Given the description of an element on the screen output the (x, y) to click on. 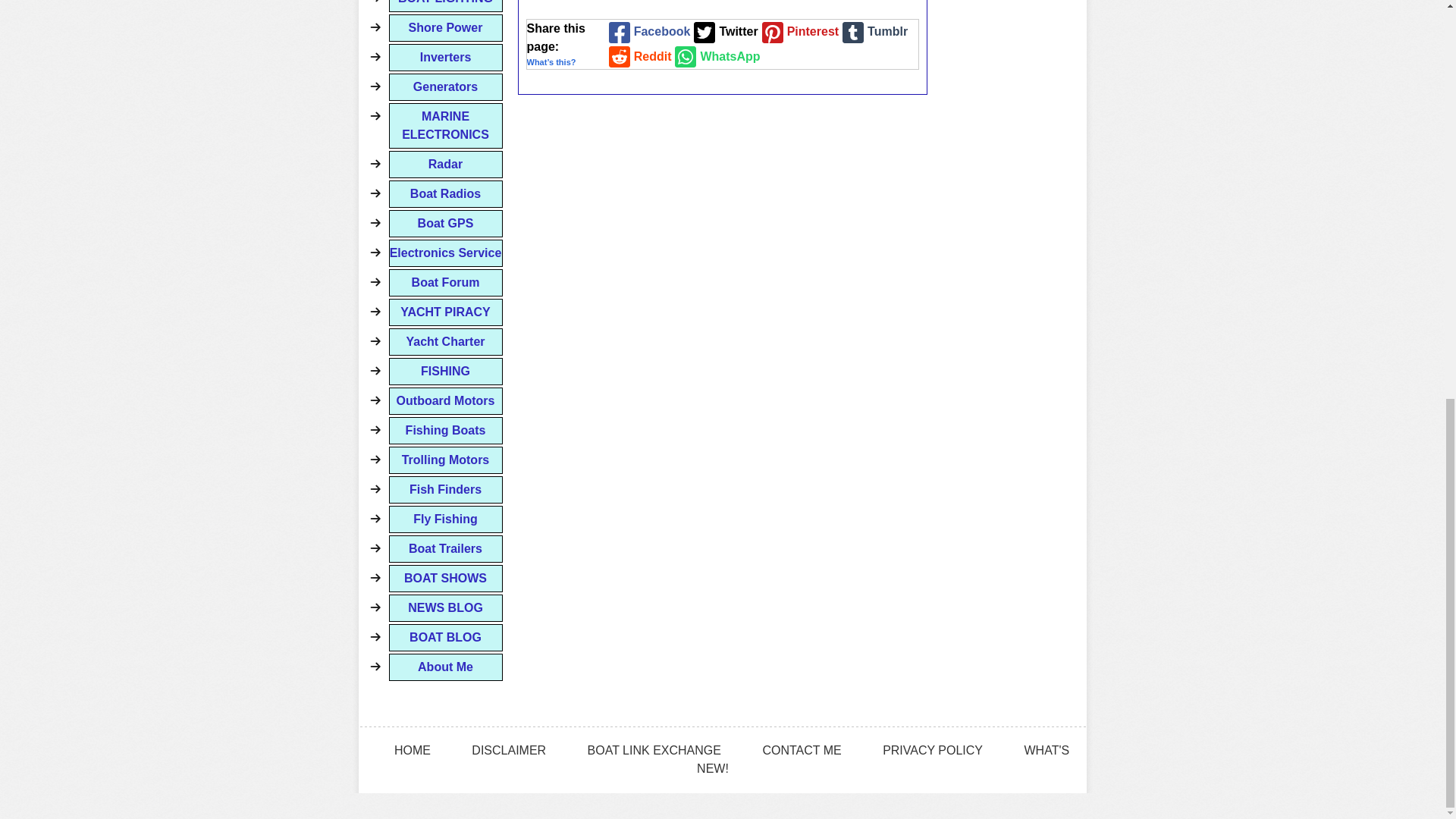
Inverters (445, 57)
Twitter (723, 32)
BOAT LIGHTING (445, 6)
Radar (445, 164)
Reddit (638, 57)
FISHING (445, 370)
Outboard Motors (445, 400)
Pinterest (798, 32)
Tumblr (872, 32)
